Given the description of an element on the screen output the (x, y) to click on. 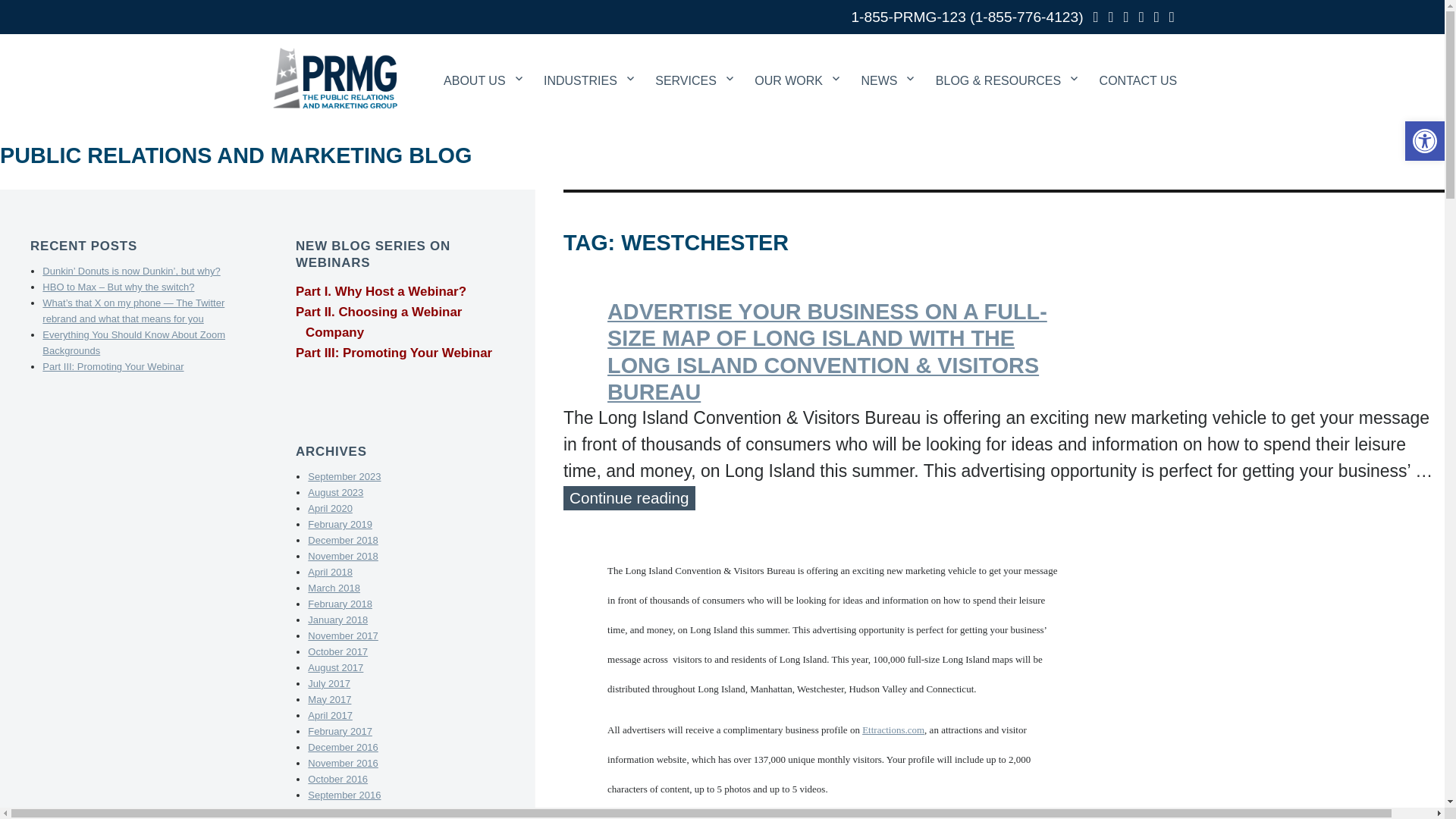
INDUSTRIES (588, 61)
ABOUT US (482, 61)
Accessibility Tools (1424, 140)
Long Island Public Relations and Marketing Company (334, 76)
1-855-776-4123 (1026, 17)
Accessibility Tools (1424, 140)
SERVICES (694, 61)
1-855-PRMG-123 (907, 17)
